Given the description of an element on the screen output the (x, y) to click on. 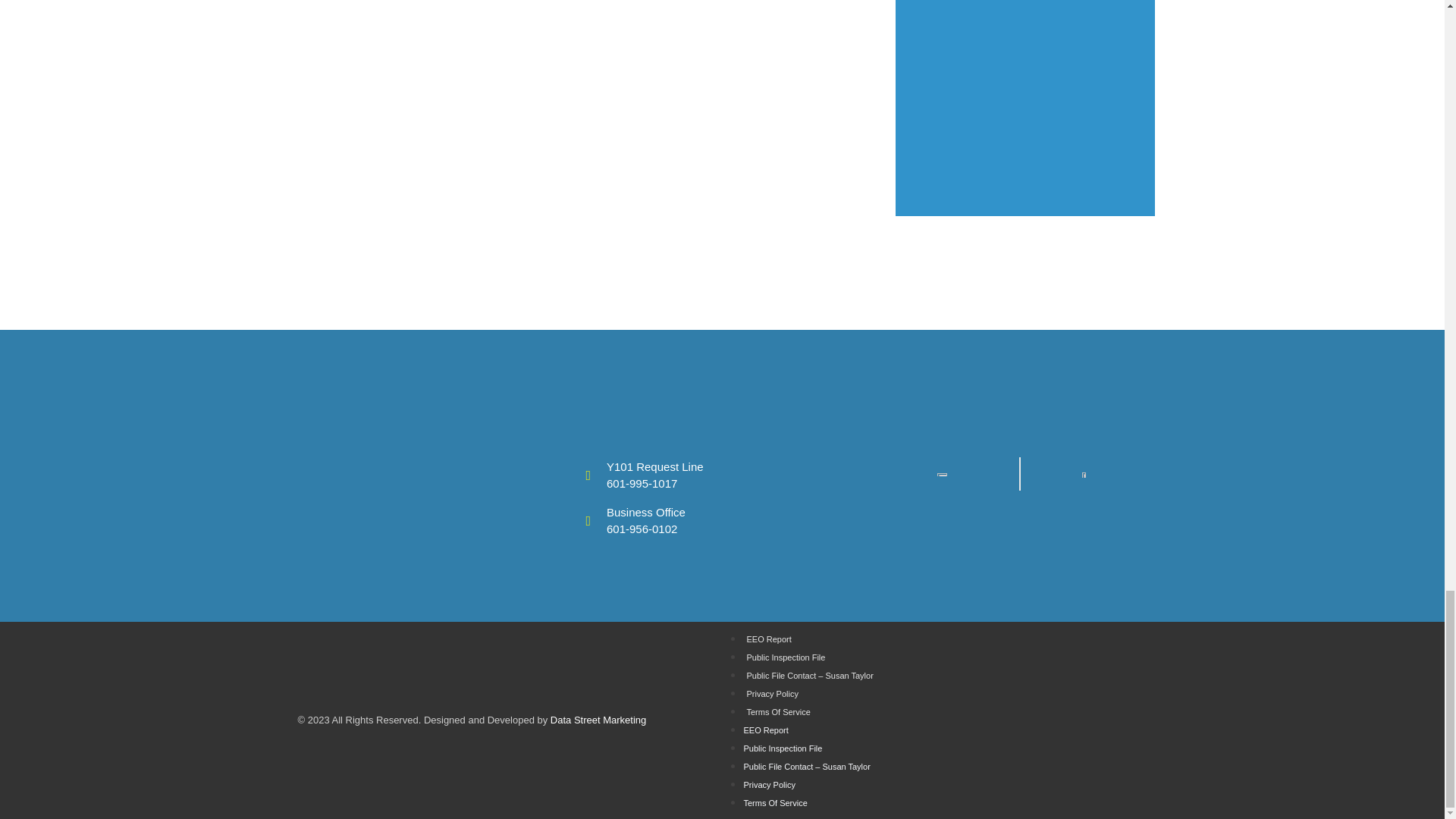
Terms Of Service (777, 711)
Data Street Marketing (598, 719)
EEO Report (767, 638)
Privacy Policy (771, 693)
Public Inspection File (785, 656)
EEO Report (764, 729)
Privacy Policy (768, 784)
Public Inspection File (782, 747)
